Given the description of an element on the screen output the (x, y) to click on. 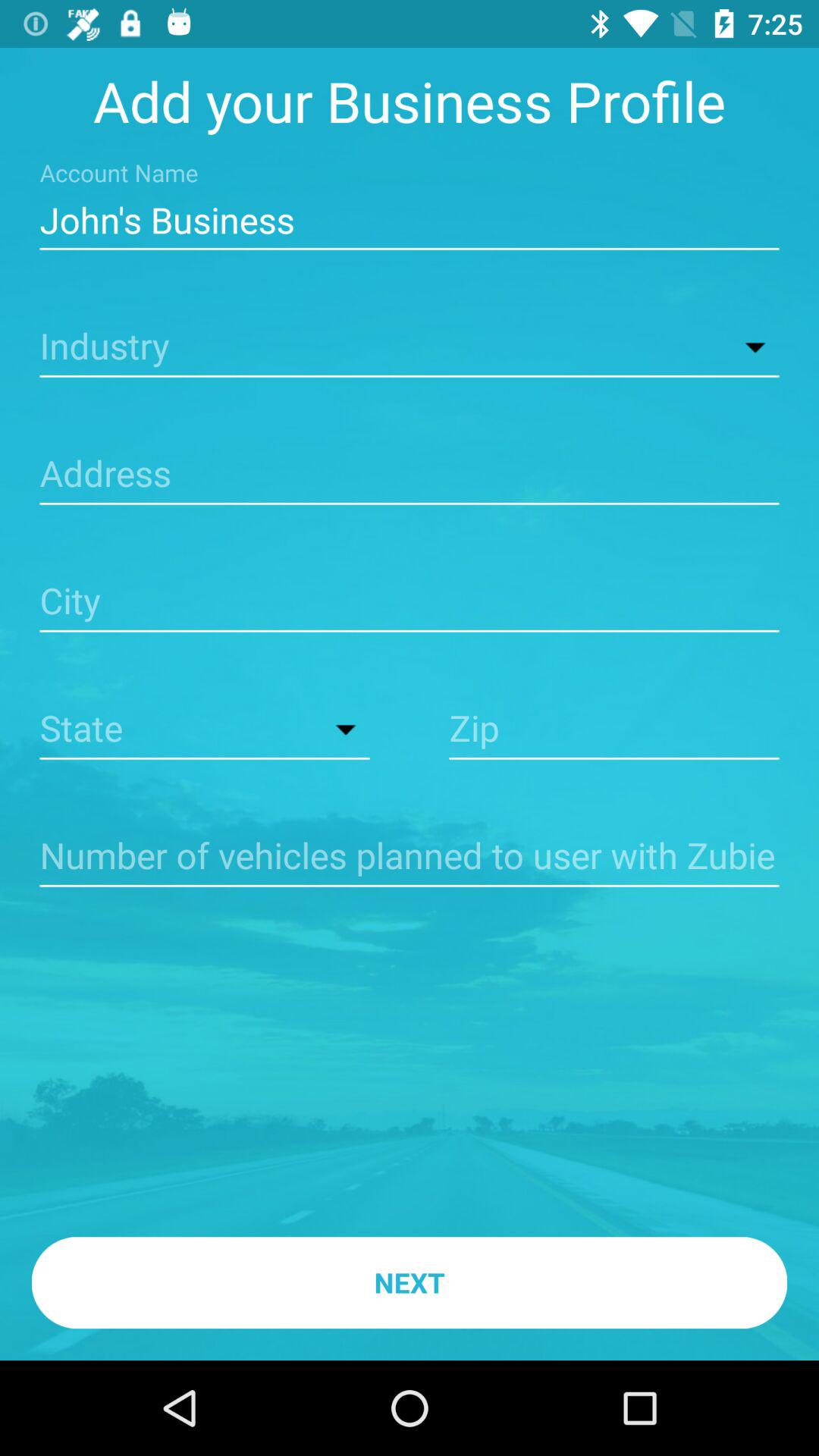
address text input (409, 475)
